Given the description of an element on the screen output the (x, y) to click on. 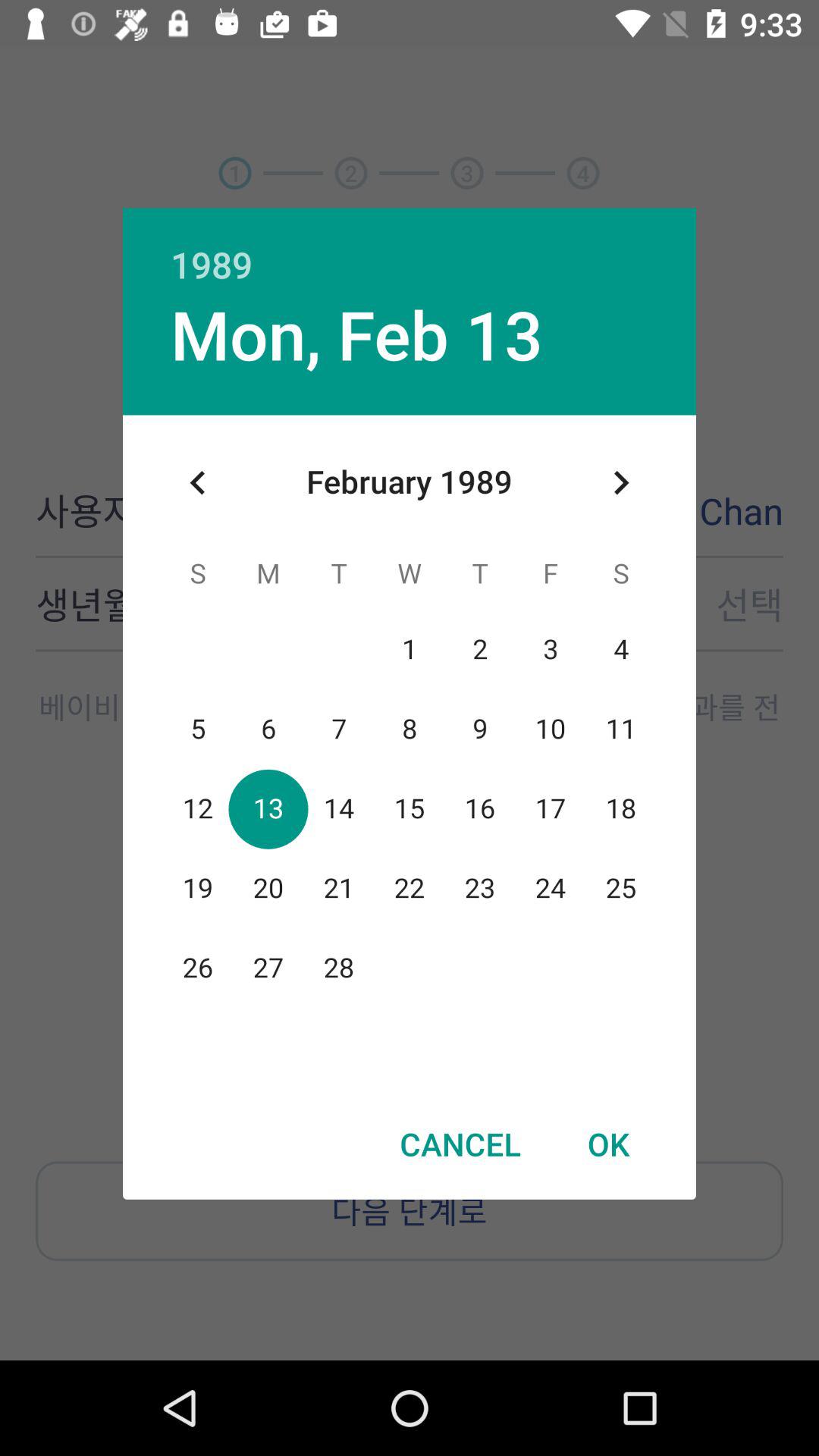
choose cancel icon (459, 1143)
